Given the description of an element on the screen output the (x, y) to click on. 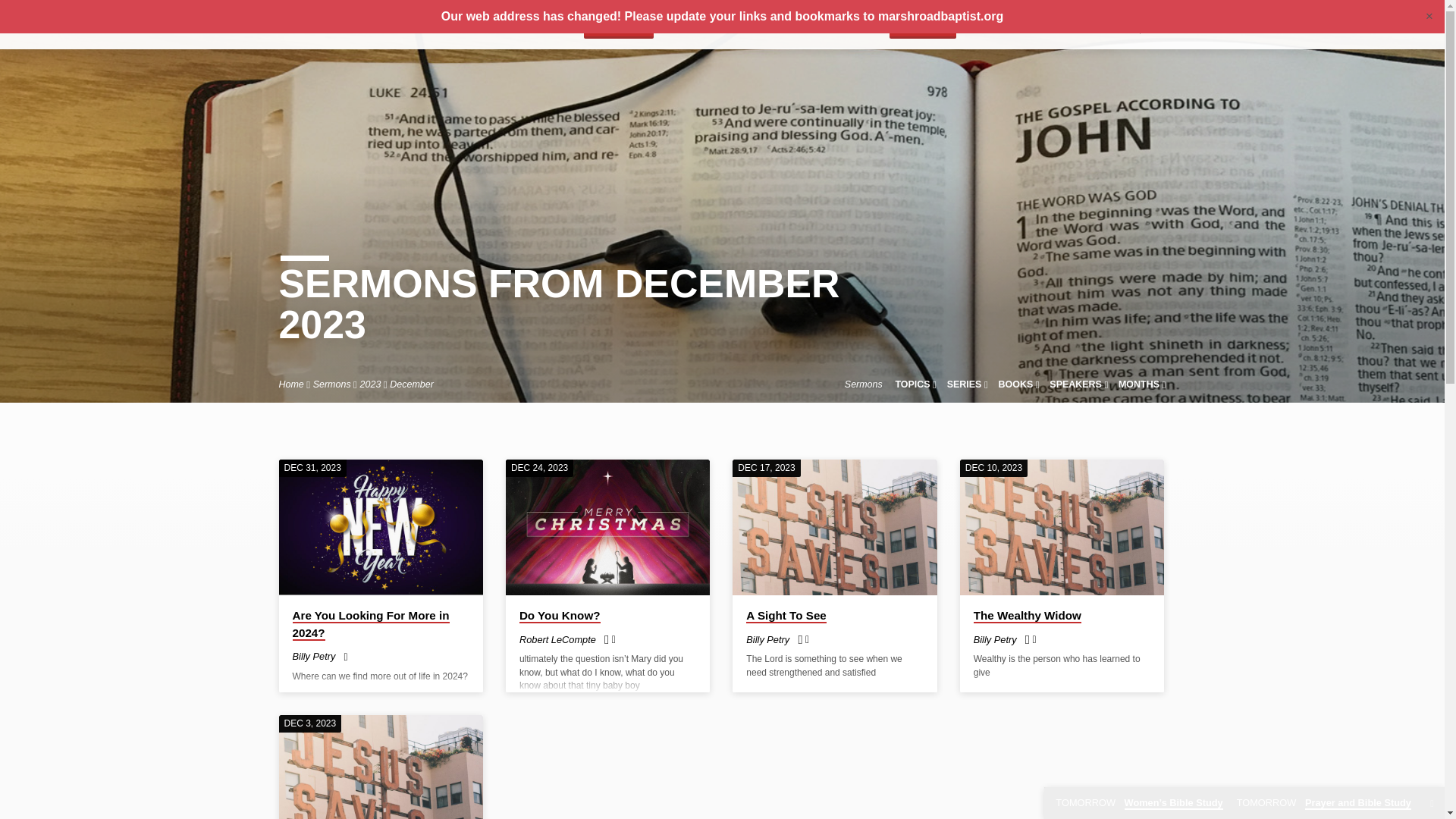
Are You Looking For More in 2024? (381, 527)
NEW HERE (618, 25)
SERMONS (691, 35)
MARSH ROAD BAPTIST CHURCH (417, 25)
GIVE NOW (922, 25)
Do You Know? (607, 527)
CONTACT (852, 35)
A Sight To See (834, 527)
EVENTS (751, 35)
